Given the description of an element on the screen output the (x, y) to click on. 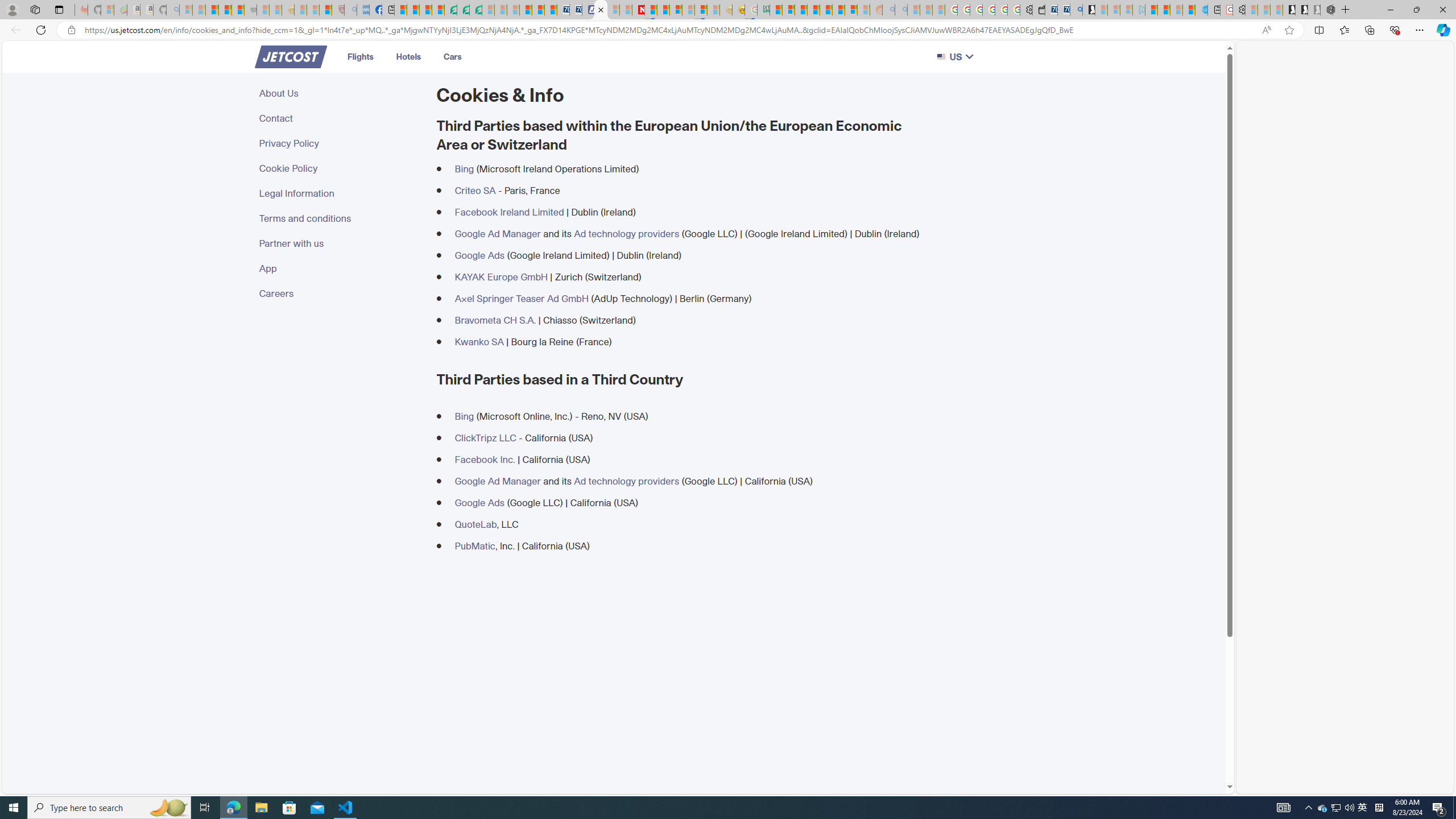
Microsoft Word - consumer-privacy address update 2.2021 (475, 9)
Student Loan Update: Forgiveness Program Ends This Month (813, 9)
Facebook Ireland Limited (509, 211)
PubMatic (474, 545)
